Given the description of an element on the screen output the (x, y) to click on. 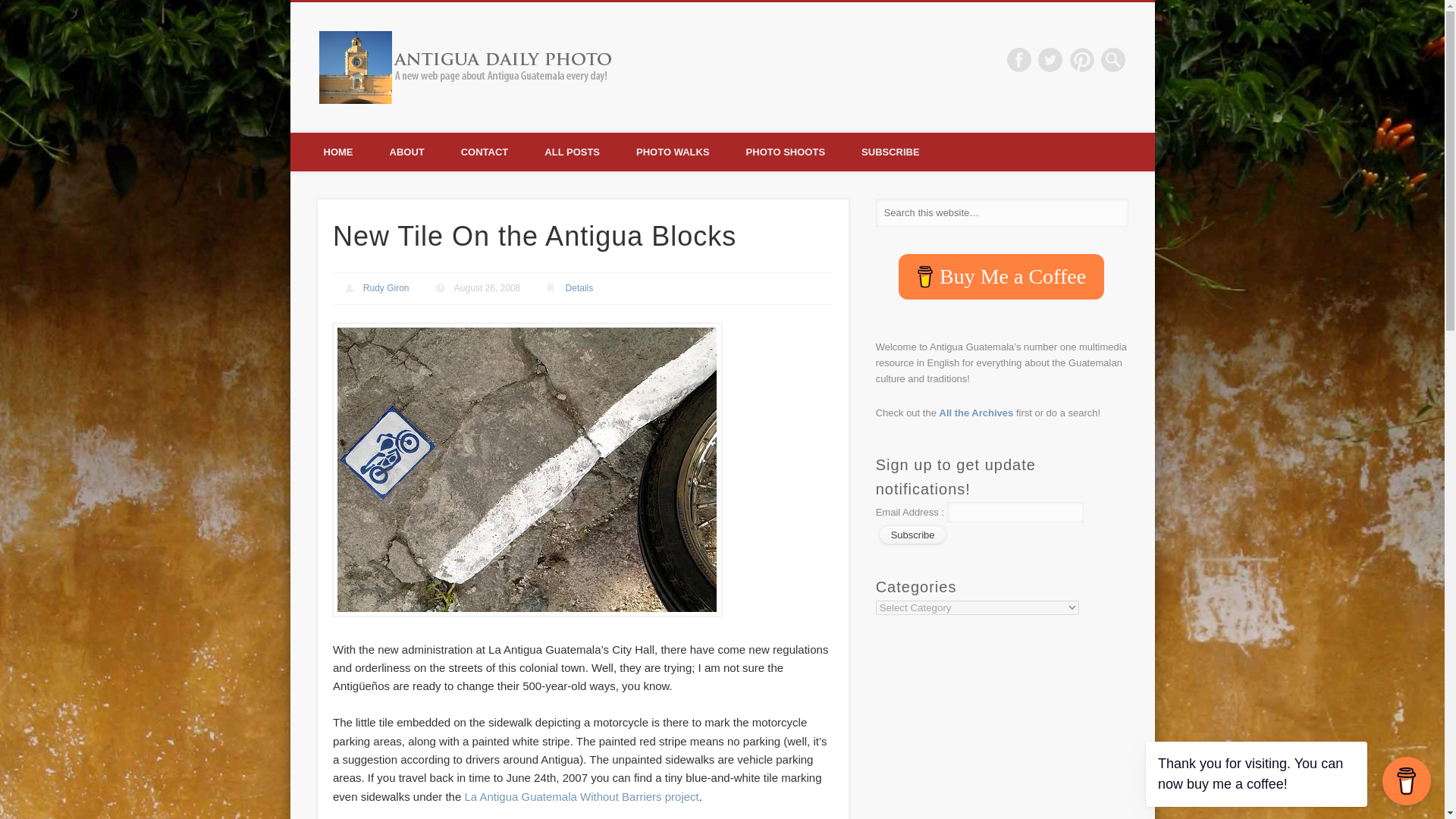
HOME (337, 151)
Facebook (1018, 59)
PHOTO WALKS (672, 151)
ALL POSTS (571, 151)
ABOUT (406, 151)
PHOTO SHOOTS (786, 151)
Twitter (1050, 59)
Subscribe (912, 535)
SUBSCRIBE (890, 151)
La Antigua Guatemala Without Barriers project (581, 796)
